Given the description of an element on the screen output the (x, y) to click on. 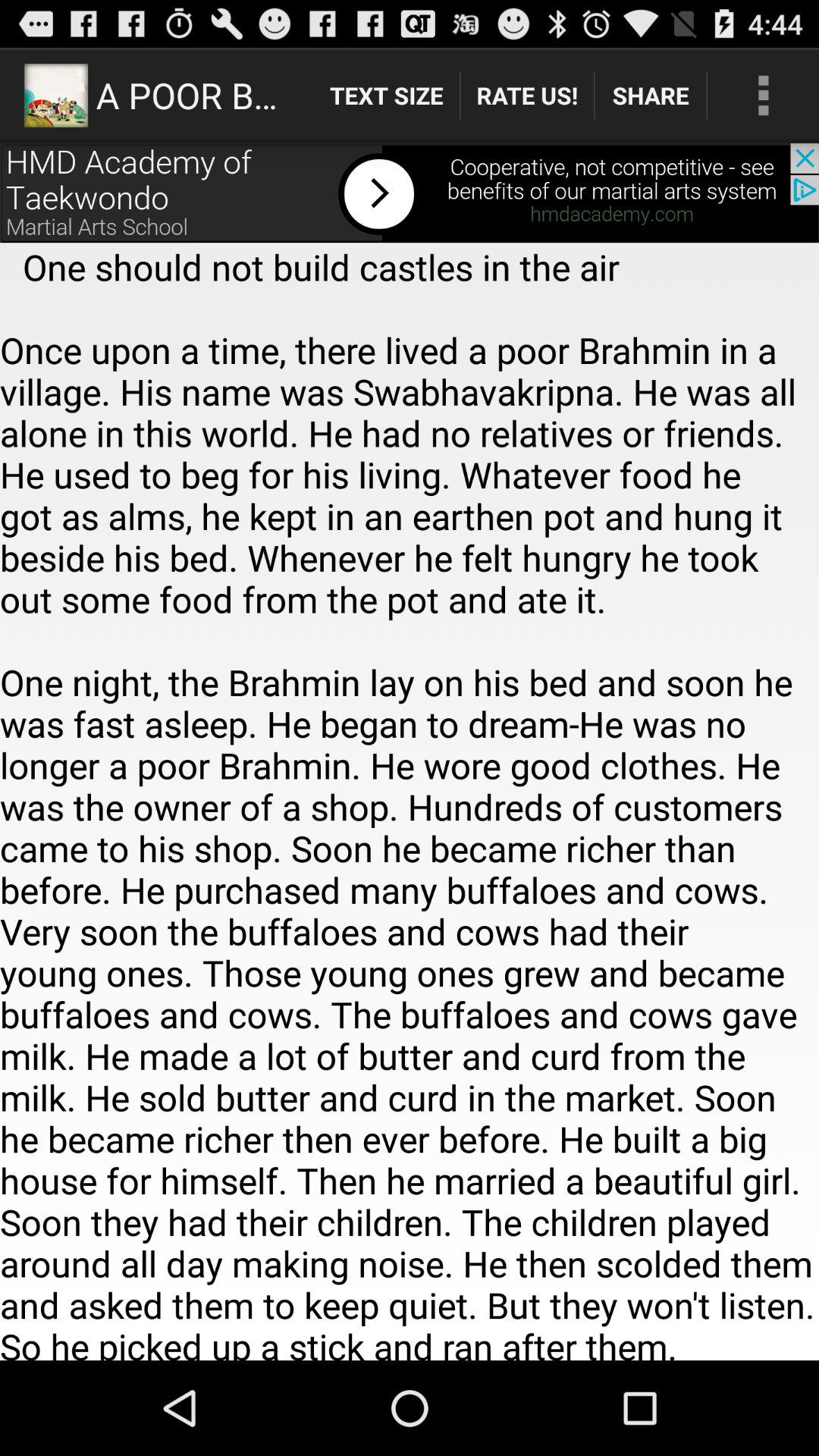
view advertisement (409, 192)
